Given the description of an element on the screen output the (x, y) to click on. 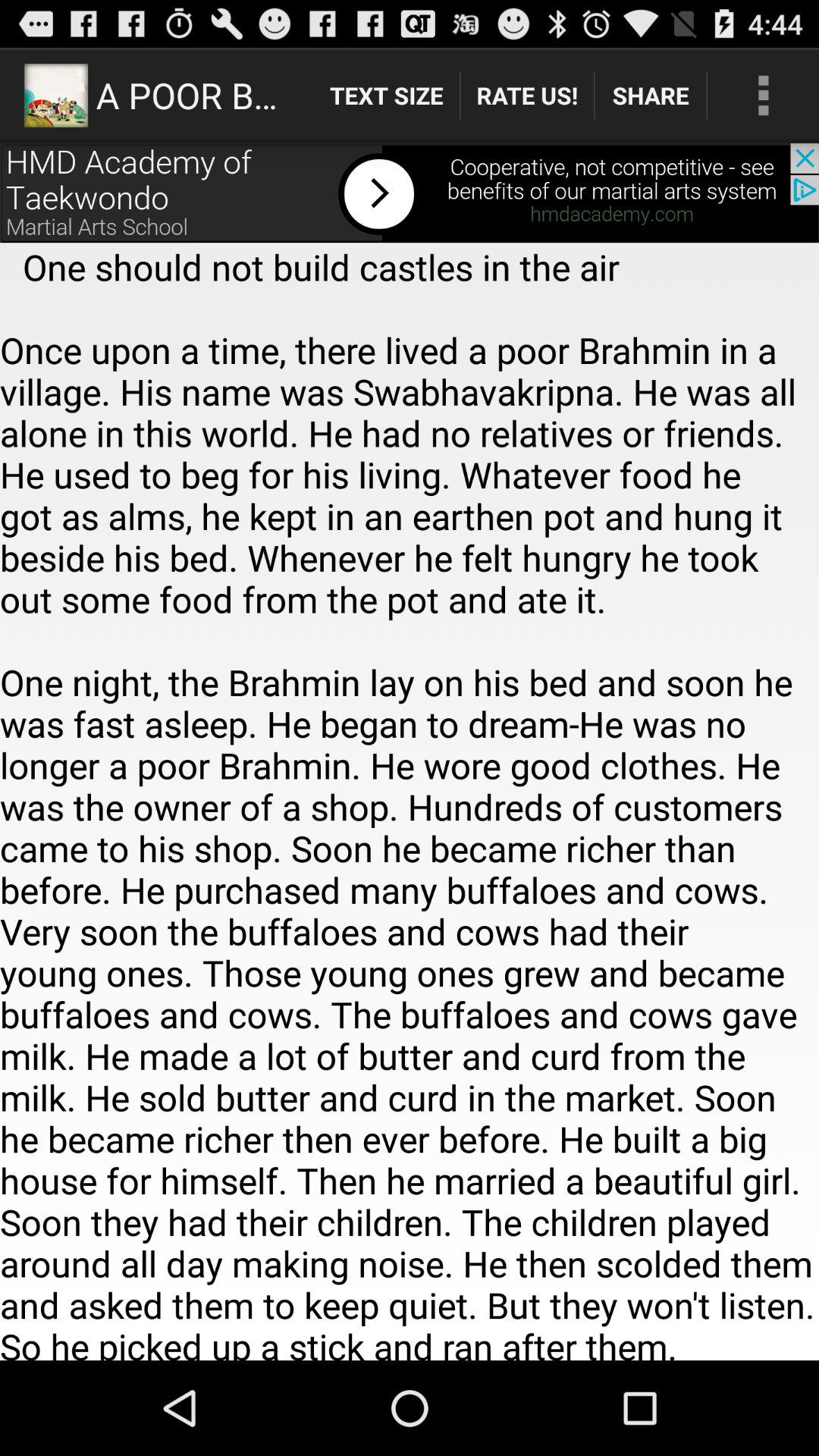
view advertisement (409, 192)
